Given the description of an element on the screen output the (x, y) to click on. 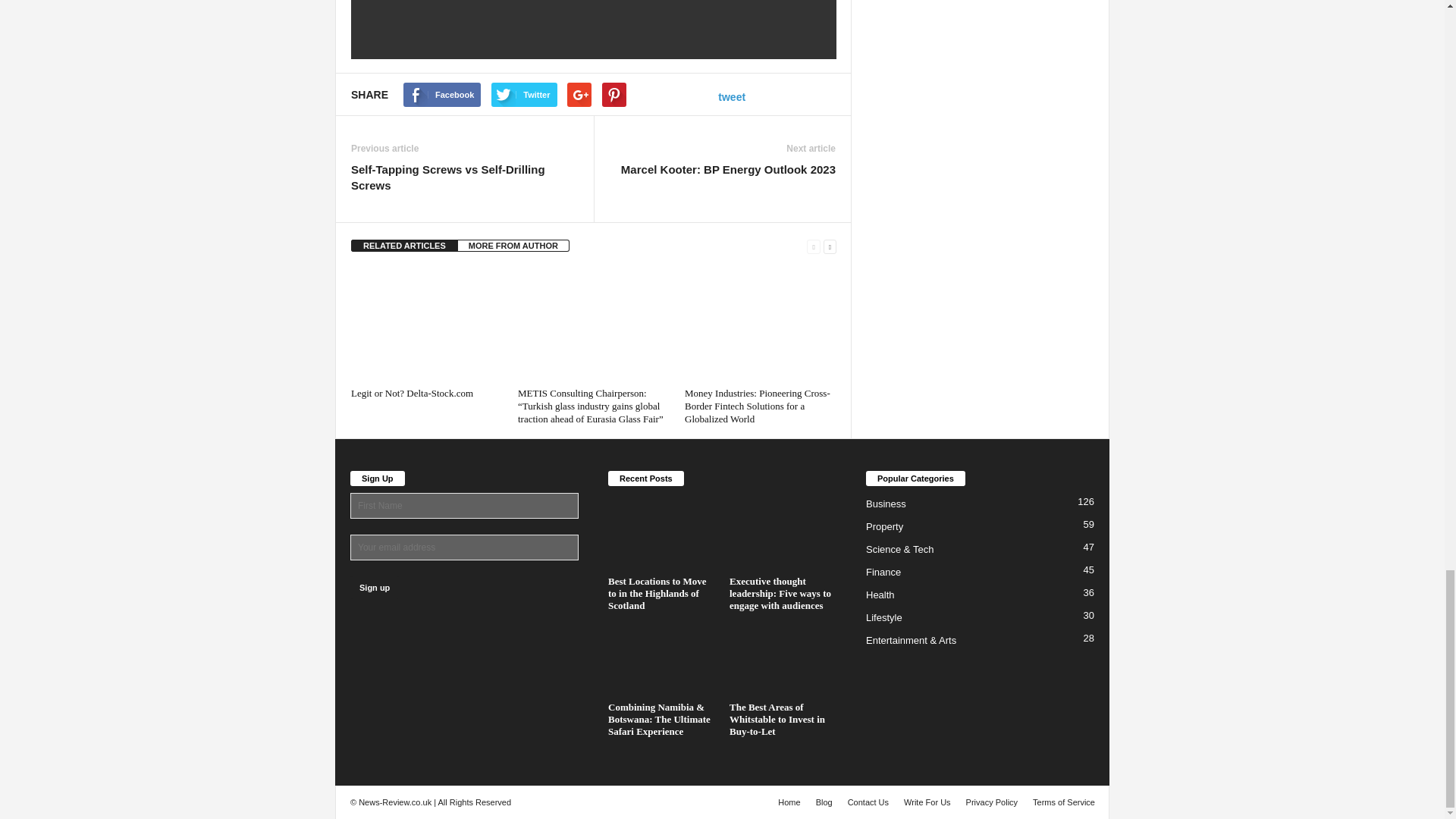
Sign up (374, 587)
Legit or Not? Delta-Stock.com (426, 325)
Legit or Not? Delta-Stock.com (411, 392)
